Given the description of an element on the screen output the (x, y) to click on. 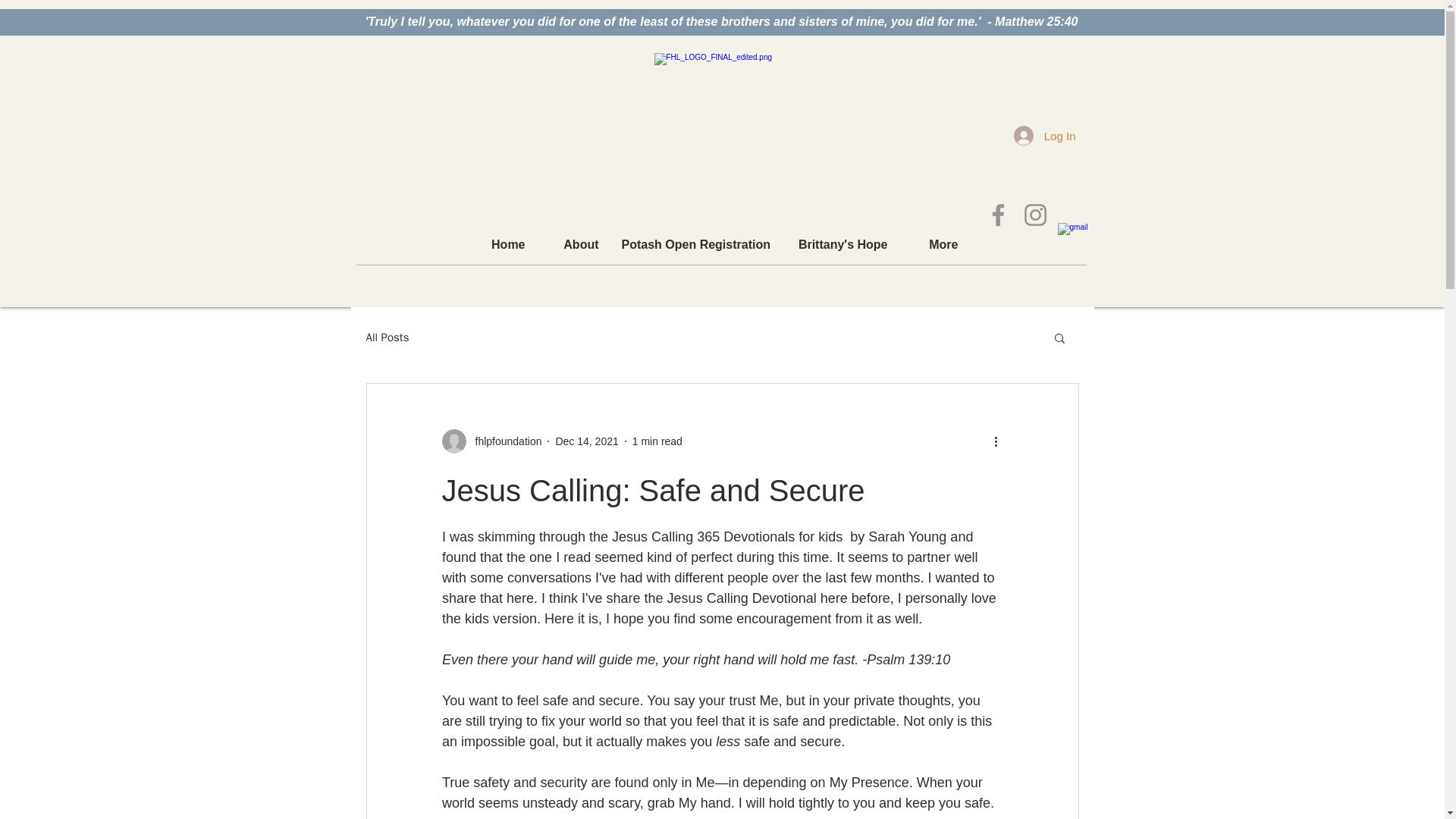
1 min read (656, 440)
Brittany's Hope (838, 244)
fhlpfoundation (491, 441)
Log In (1044, 135)
About (573, 244)
Home (498, 244)
Potash Open Registration (694, 244)
Dec 14, 2021 (585, 440)
All Posts (387, 337)
fhlpfoundation (503, 441)
